Given the description of an element on the screen output the (x, y) to click on. 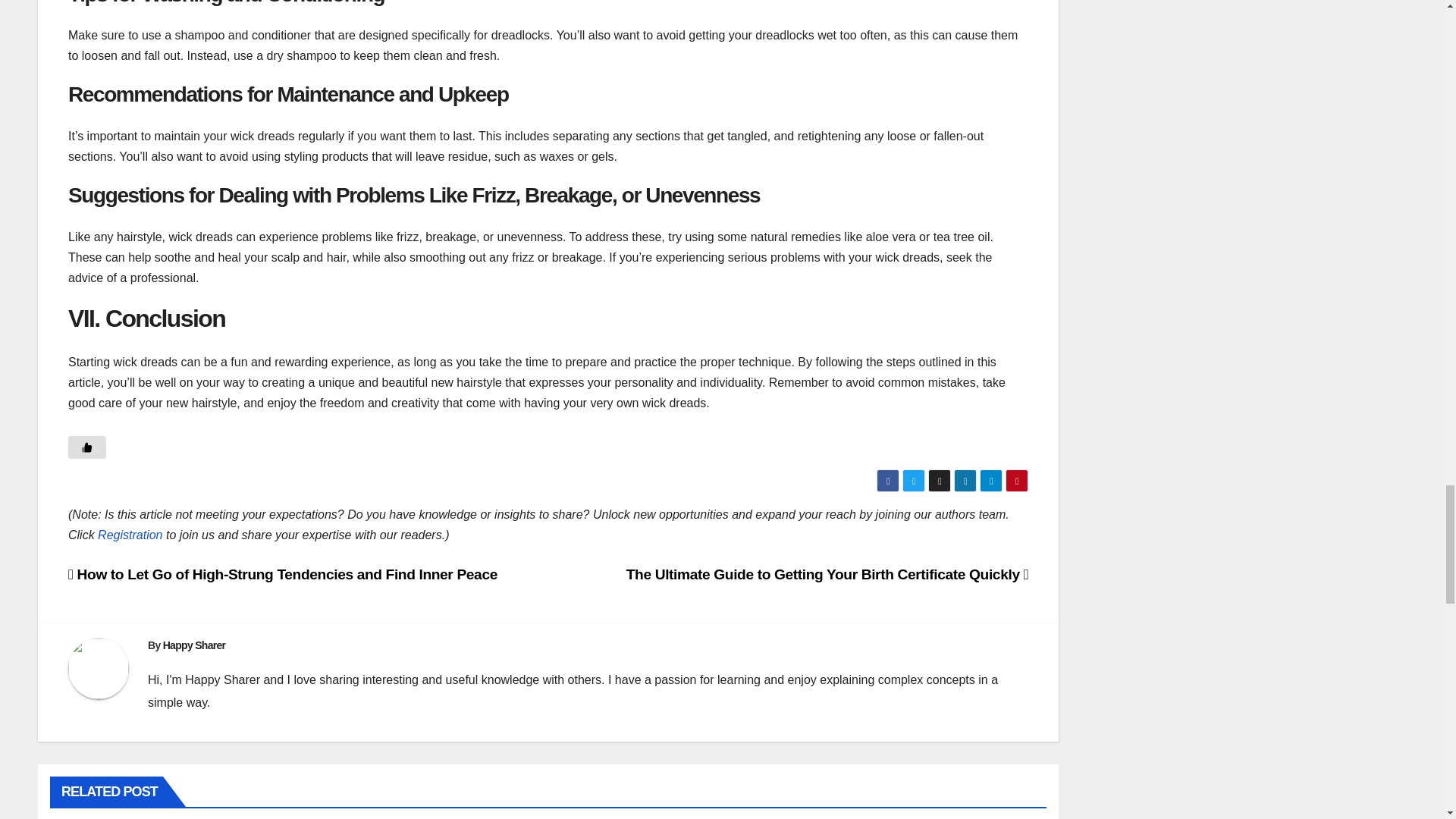
Registration (129, 534)
The Ultimate Guide to Getting Your Birth Certificate Quickly (826, 574)
